Given the description of an element on the screen output the (x, y) to click on. 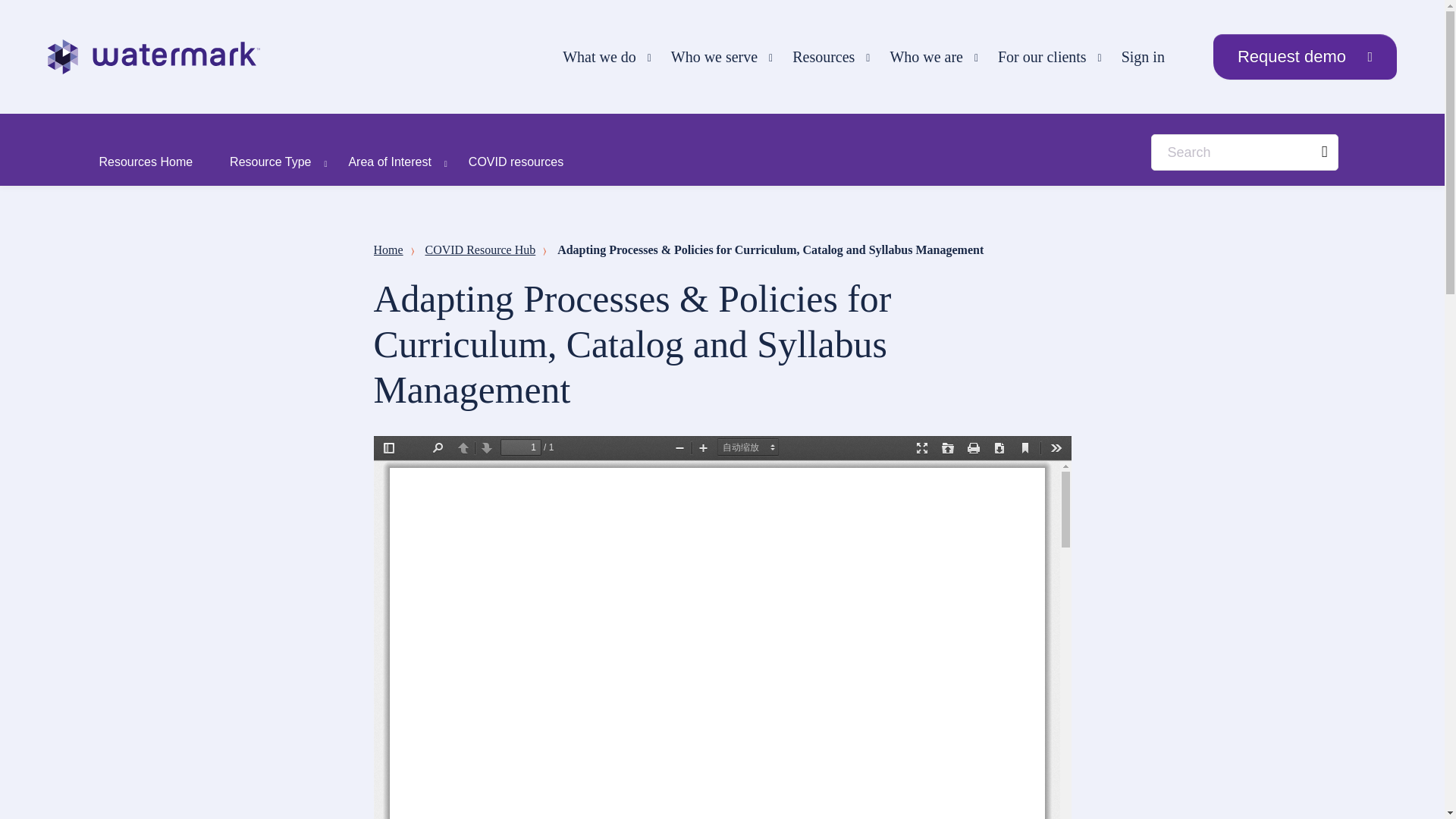
For our clients (1043, 56)
Who we are (928, 56)
Request Demo (1304, 56)
Who we serve (716, 56)
What we do (601, 56)
